Given the description of an element on the screen output the (x, y) to click on. 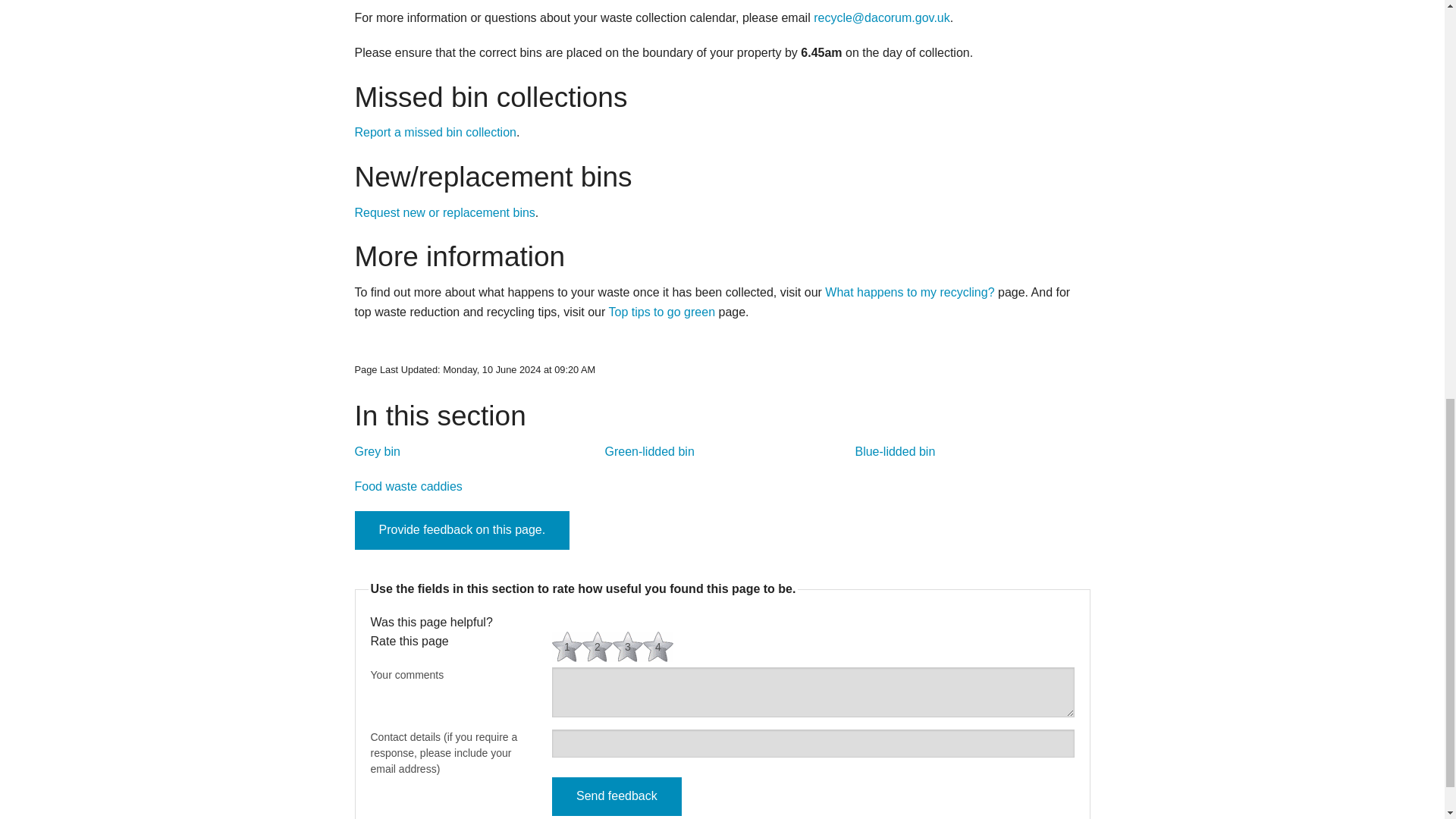
Provide feedback on this page. (462, 530)
Top tips to go green (661, 311)
Food waste caddies (409, 486)
Green-lidded bin (649, 451)
Blue-lidded bin (894, 451)
What happens to my recycling? (909, 291)
Report a missed bin collection (435, 132)
Grey bin (377, 451)
Send feedback (616, 796)
Email our Waste Services team (881, 17)
